Given the description of an element on the screen output the (x, y) to click on. 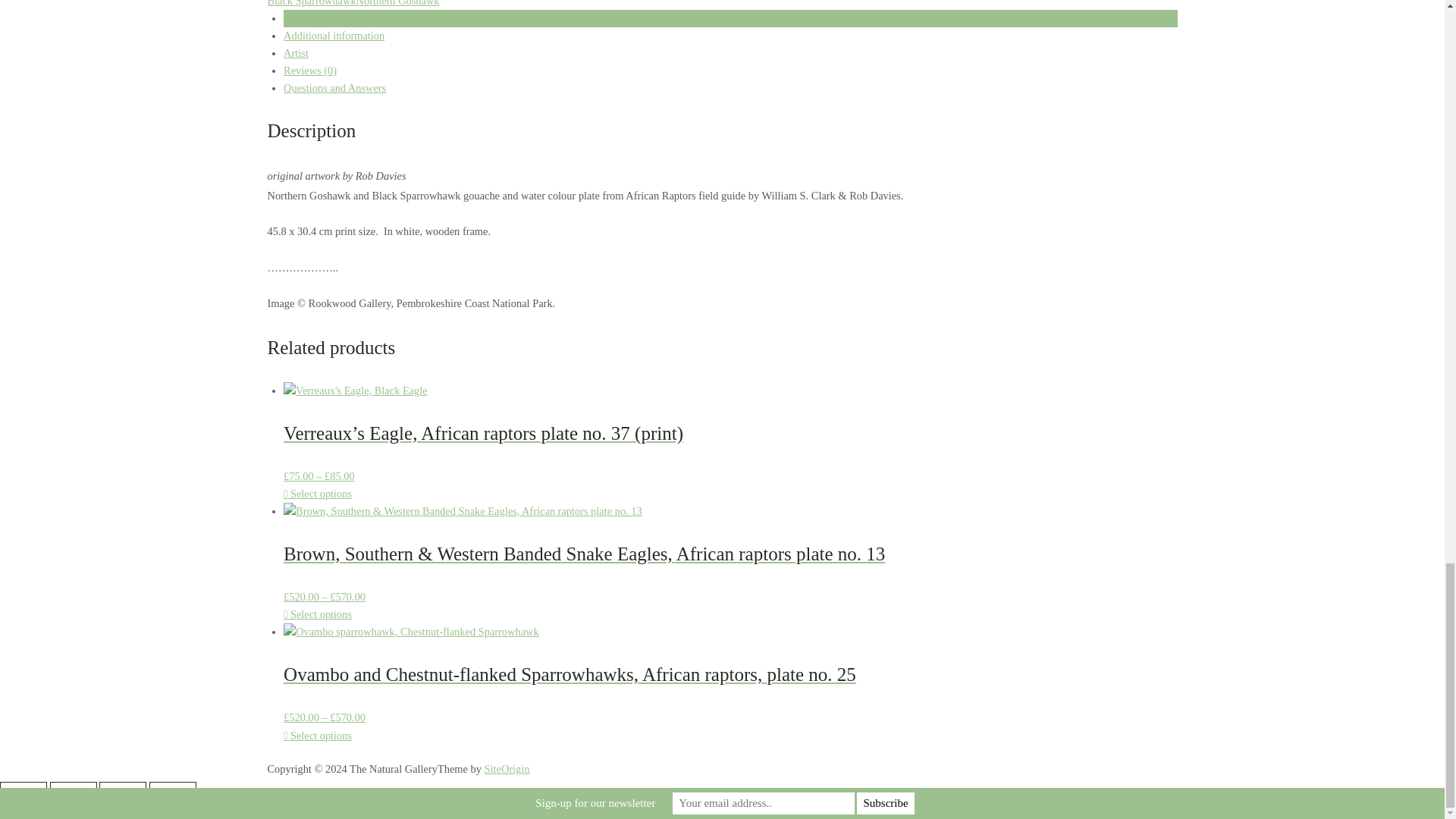
Black Sparrowhawk (310, 3)
Artist (295, 52)
Additional information (333, 35)
Select options (317, 493)
Northern Goshawk (397, 3)
Questions and Answers (334, 87)
Description (308, 18)
